Given the description of an element on the screen output the (x, y) to click on. 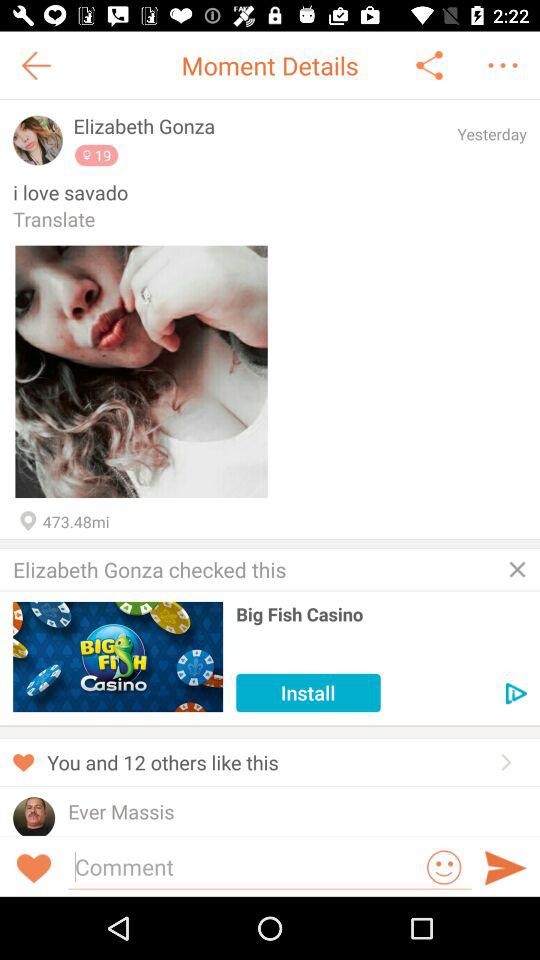
type your comment (244, 866)
